Given the description of an element on the screen output the (x, y) to click on. 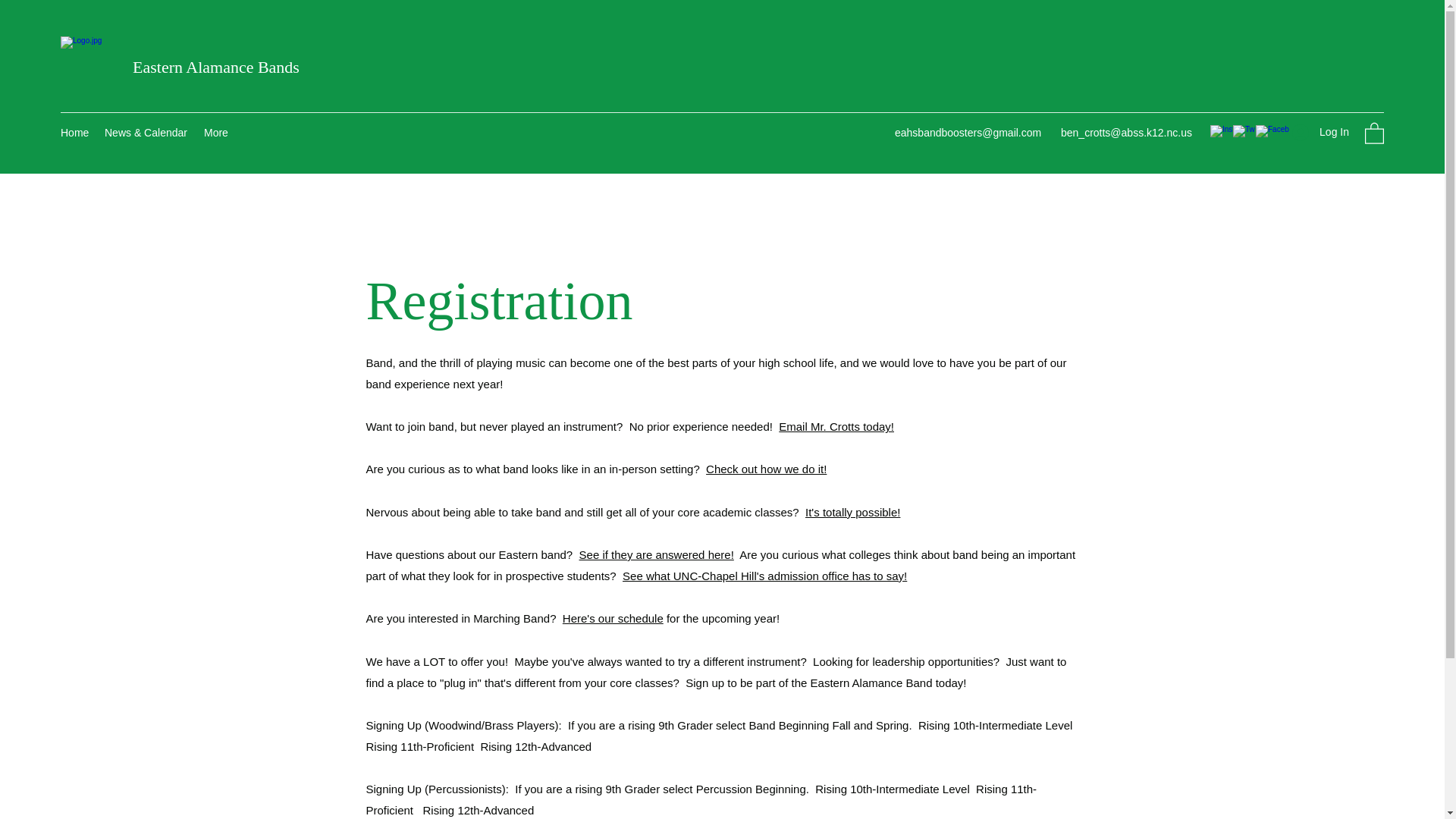
It's totally possible! (852, 512)
Check out how we do it! (766, 468)
Eastern Alamance Bands (215, 66)
Email Mr. Crotts today! (835, 426)
Log In (1320, 131)
See if they are answered here! (656, 554)
See what UNC-Chapel Hill's admission office has to say! (765, 575)
Here's our schedule (612, 617)
Home (74, 132)
